Given the description of an element on the screen output the (x, y) to click on. 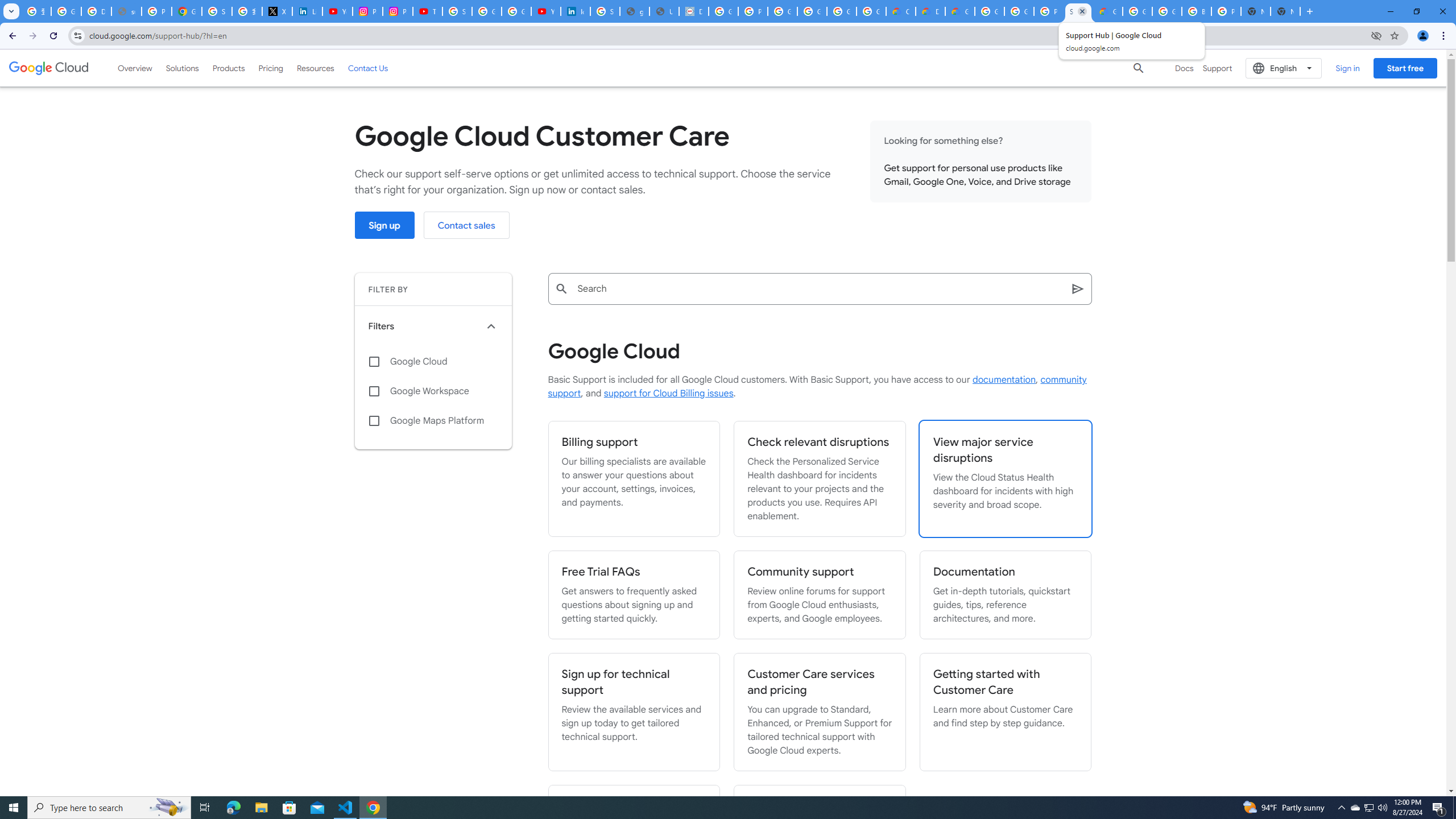
YouTube Content Monetization Policies - How YouTube Works (337, 11)
Google Cloud Platform (989, 11)
google_privacy_policy_en.pdf (634, 11)
support.google.com - Network error (126, 11)
Gemini for Business and Developers | Google Cloud (959, 11)
User Details (664, 11)
